Given the description of an element on the screen output the (x, y) to click on. 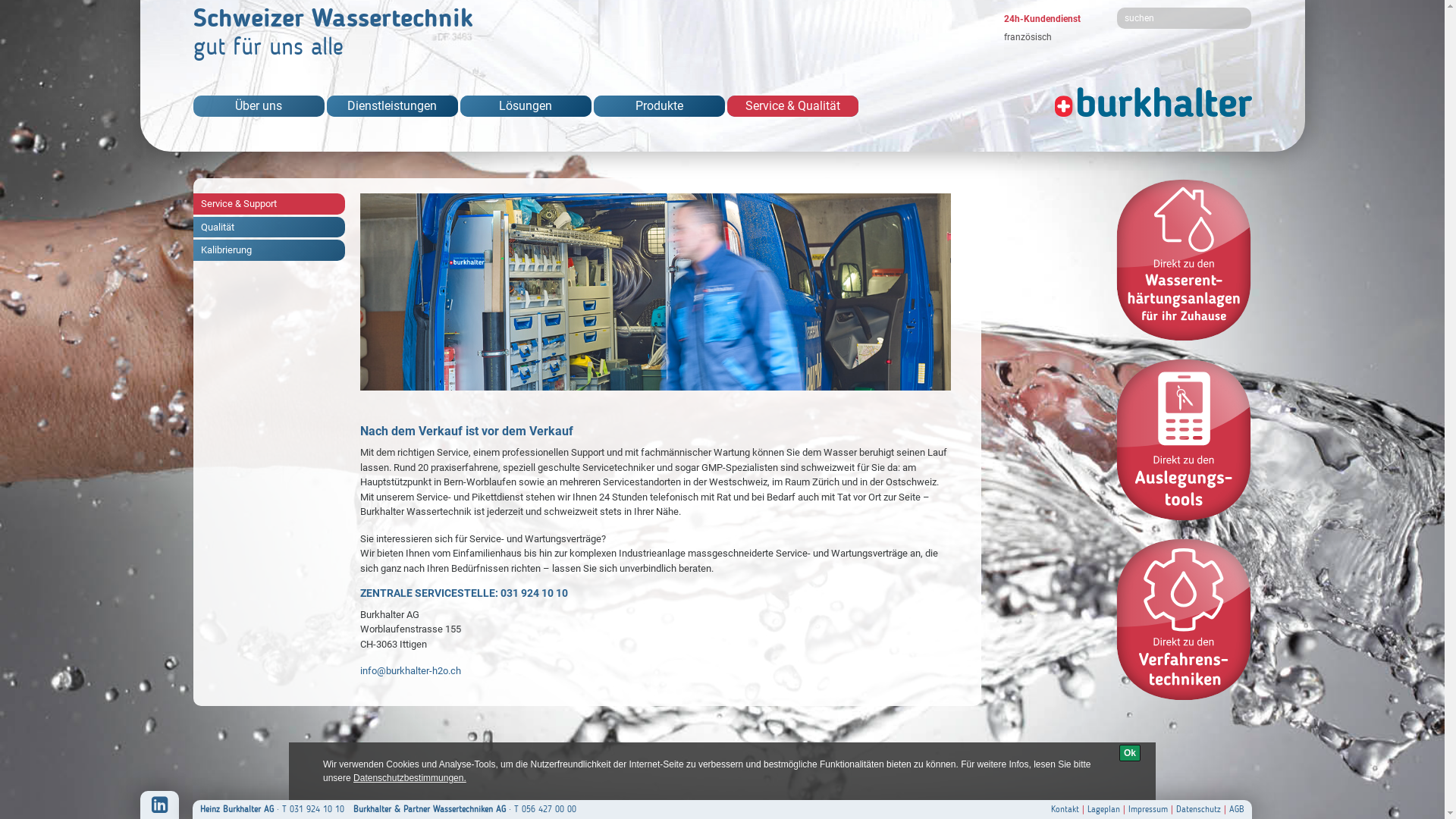
Lageplan Element type: text (1103, 808)
Dienstleistungen Element type: text (391, 105)
AGB Element type: text (1235, 808)
Produkte Element type: text (658, 105)
Datenschutz Element type: text (1197, 808)
Impressum Element type: text (1147, 808)
info@burkhalter-h2o.ch Element type: text (409, 670)
Kontakt Element type: text (1065, 808)
Kalibrierung Element type: text (268, 249)
24h-Kundendienst Element type: text (1042, 18)
Service & Support Element type: text (268, 203)
